Given the description of an element on the screen output the (x, y) to click on. 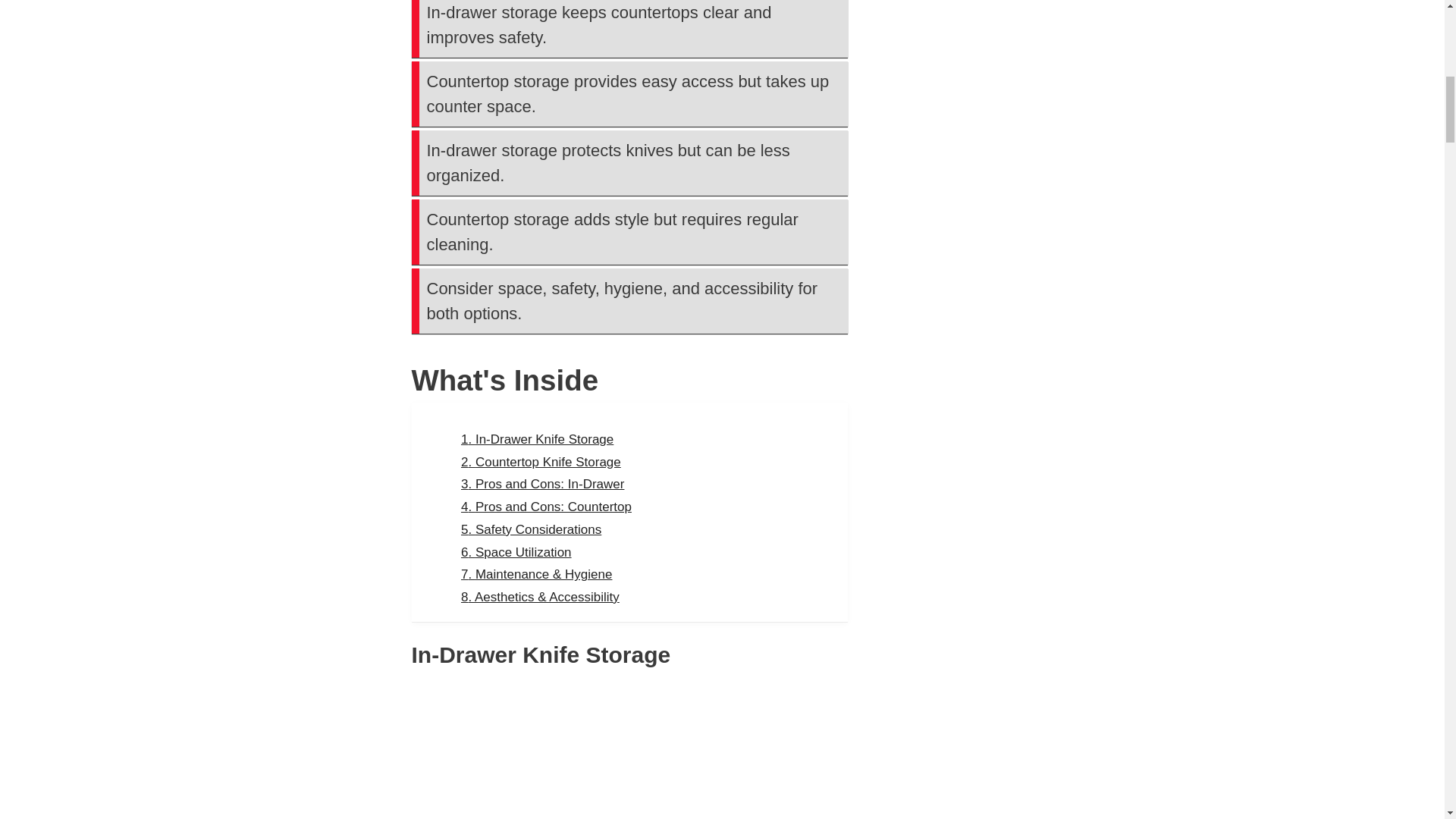
Pros and Cons: Countertop (546, 506)
Pros and Cons: In-Drawer (542, 483)
In-Drawer Knife Storage (536, 439)
Countertop Knife Storage (541, 462)
Space Utilization (516, 551)
Safety Considerations (531, 529)
